Given the description of an element on the screen output the (x, y) to click on. 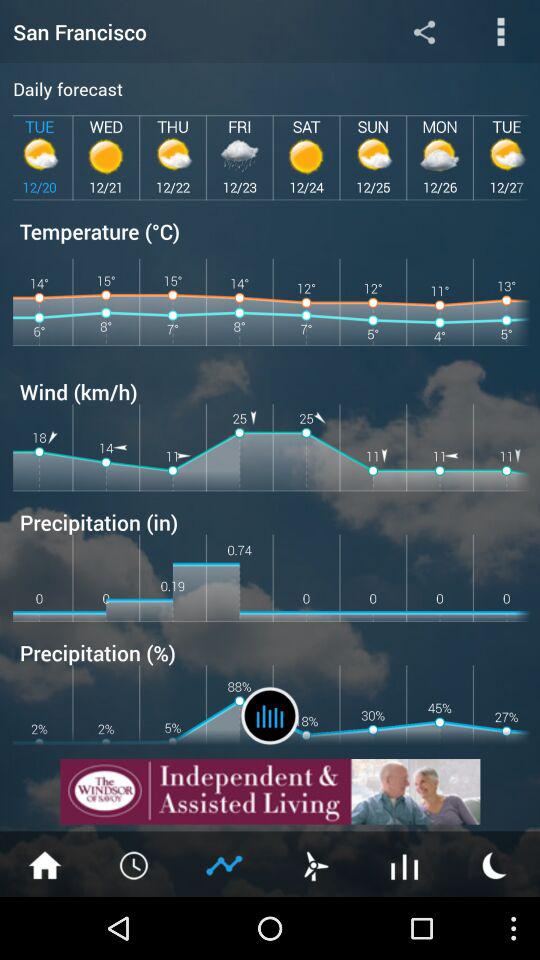
share the data (424, 31)
